Given the description of an element on the screen output the (x, y) to click on. 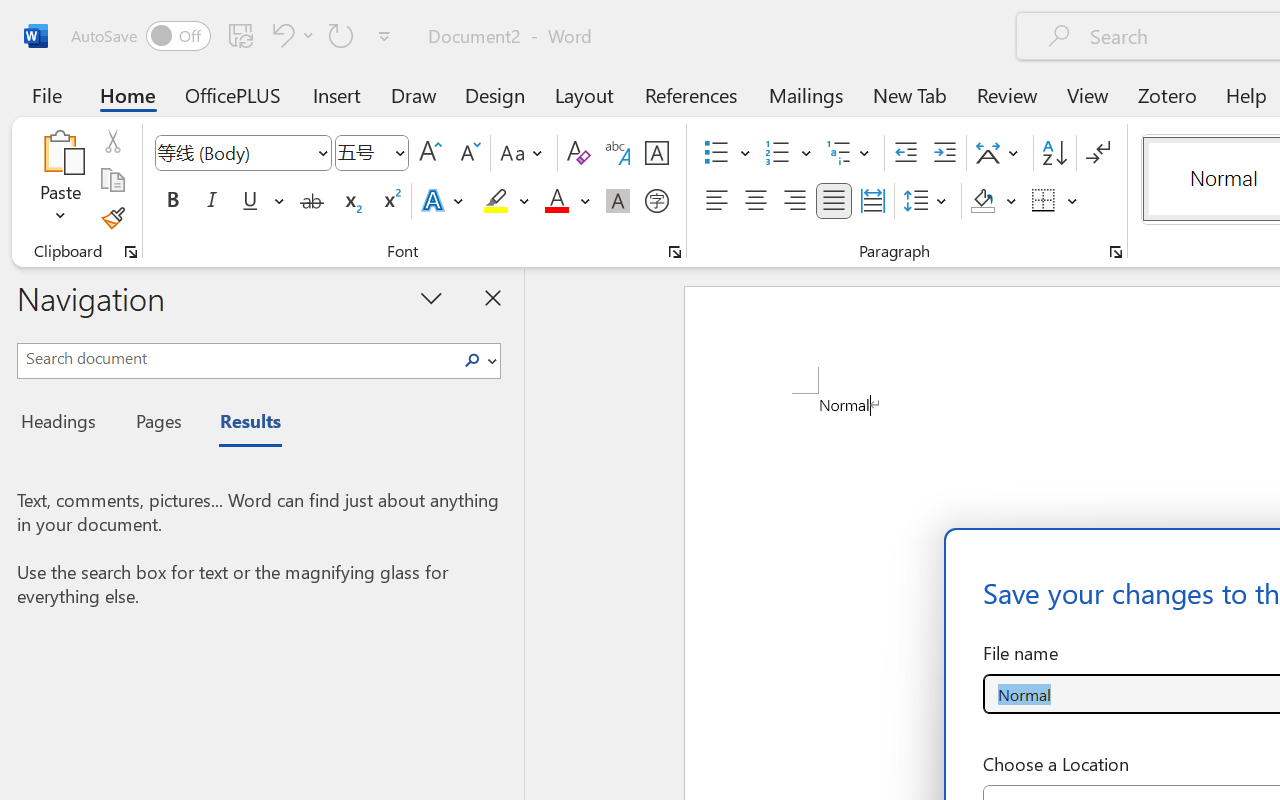
Zotero (1166, 94)
Underline (250, 201)
Font Color (567, 201)
Cut (112, 141)
Font... (675, 252)
Search (471, 360)
AutoSave (140, 35)
Subscript (350, 201)
New Tab (909, 94)
Font Size (372, 153)
Home (127, 94)
Clear Formatting (578, 153)
Task Pane Options (431, 297)
Underline (261, 201)
